Given the description of an element on the screen output the (x, y) to click on. 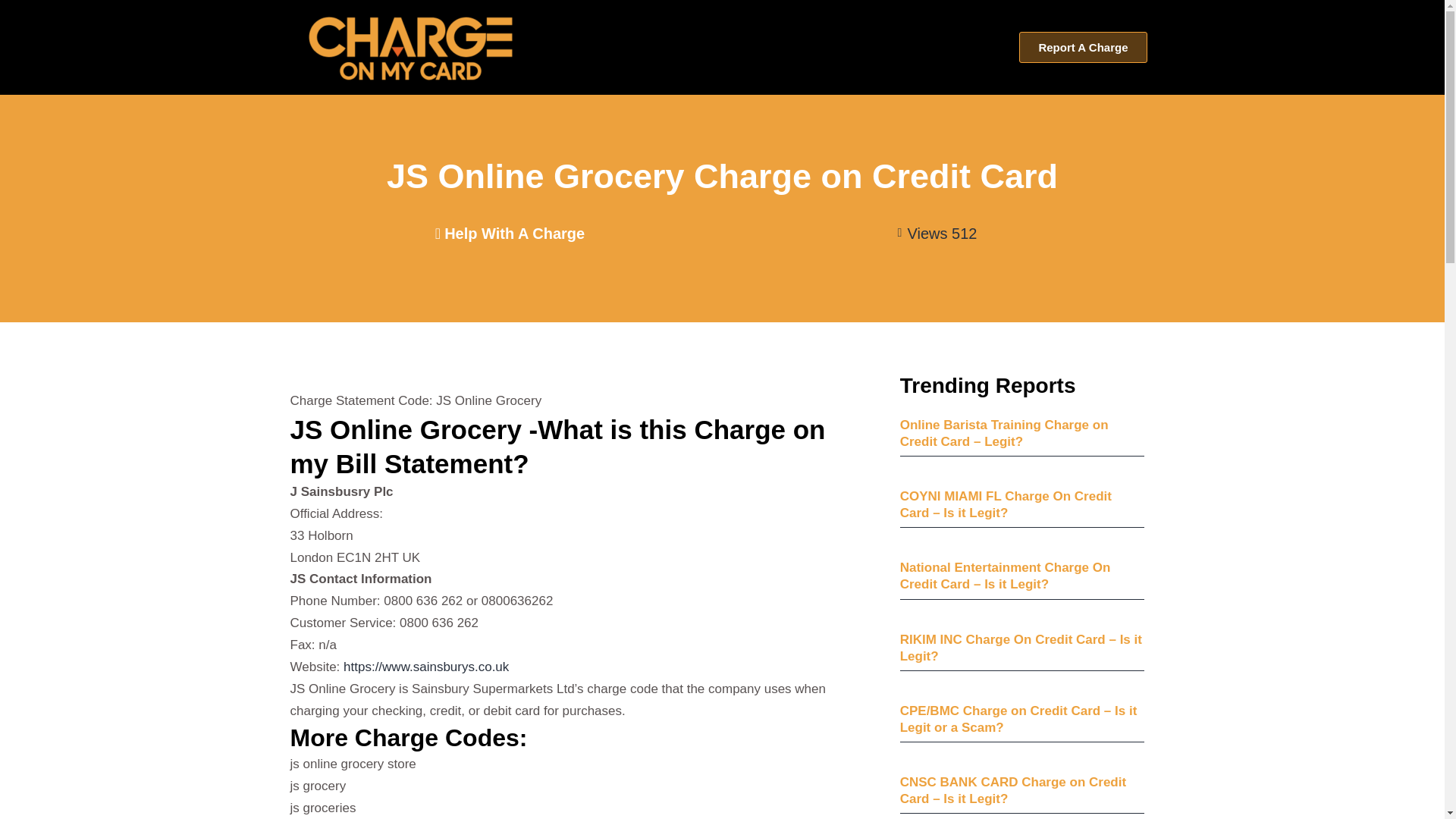
Help With A Charge (510, 232)
Report A Charge (1083, 47)
